Given the description of an element on the screen output the (x, y) to click on. 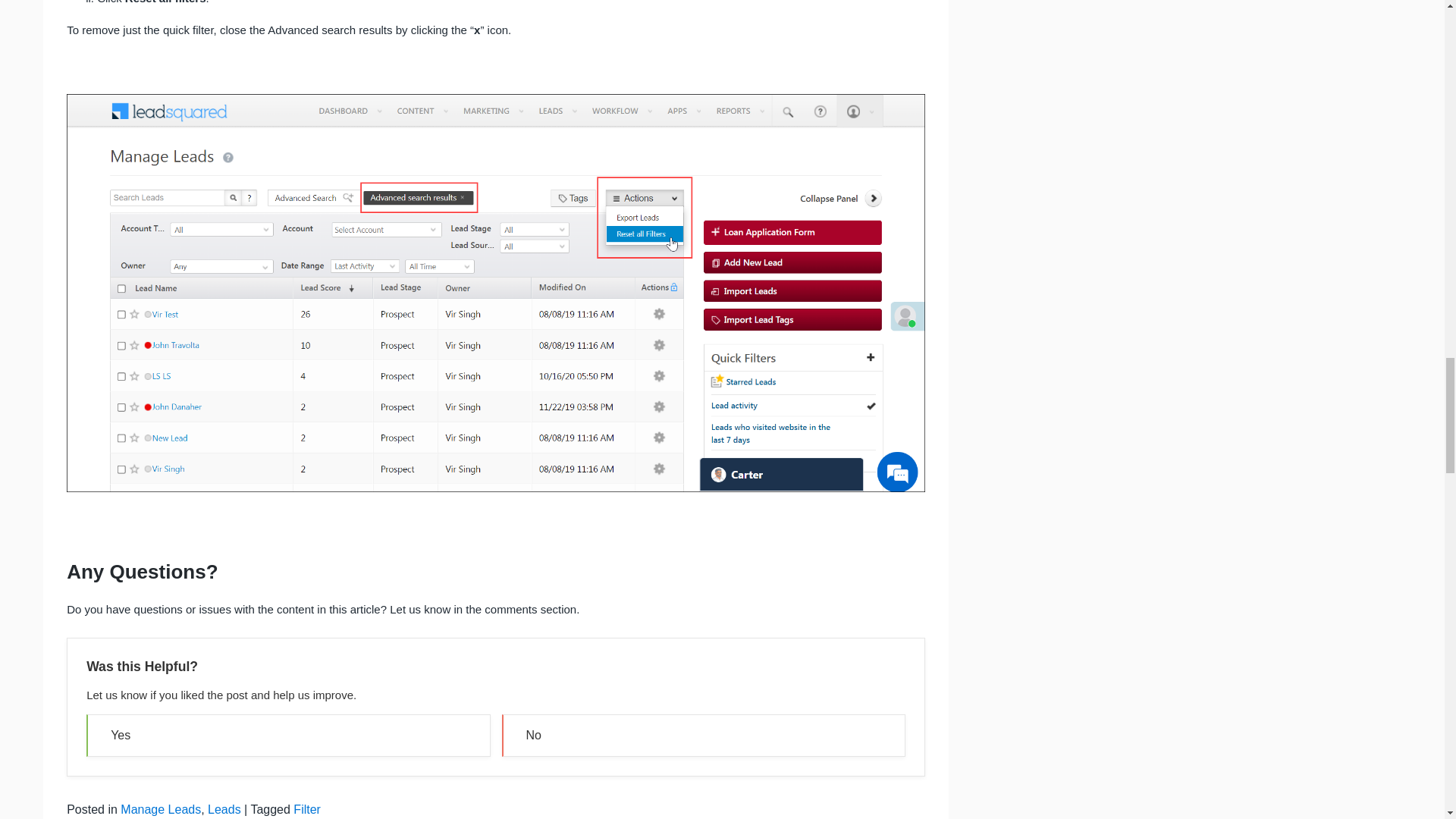
Yes (287, 735)
Filter (307, 809)
Leads (224, 809)
No (703, 735)
Manage Leads (160, 809)
